Given the description of an element on the screen output the (x, y) to click on. 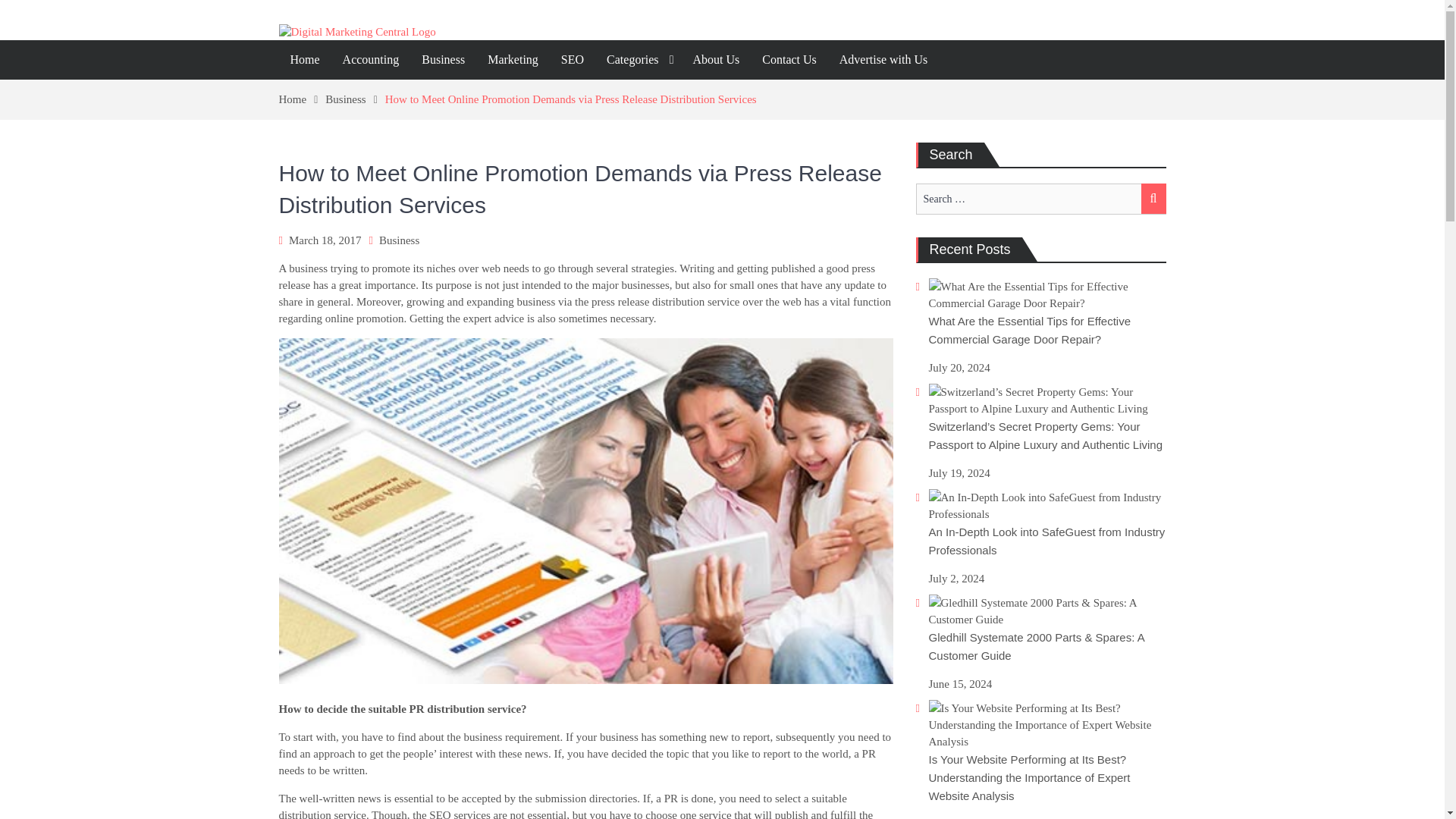
Contact Us (789, 59)
Categories (638, 59)
Business (354, 99)
Advertise with Us (883, 59)
SEO (572, 59)
Home (305, 59)
Business (398, 240)
Business (443, 59)
Home (302, 99)
March 18, 2017 (324, 240)
Accounting (370, 59)
Marketing (513, 59)
About Us (716, 59)
